Given the description of an element on the screen output the (x, y) to click on. 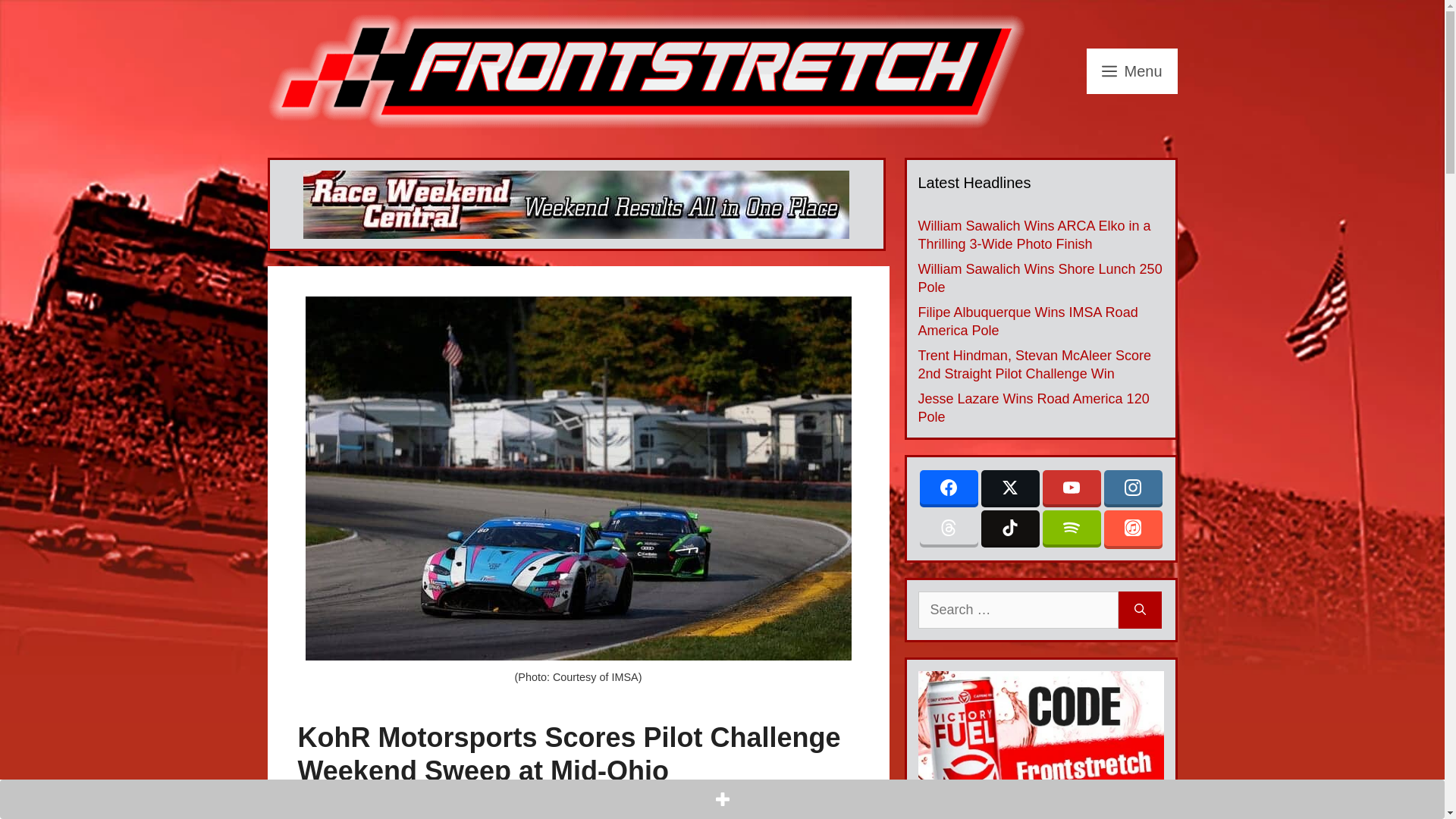
Search for: (1017, 609)
Menu (1131, 71)
Phil Allaway (436, 799)
